Given the description of an element on the screen output the (x, y) to click on. 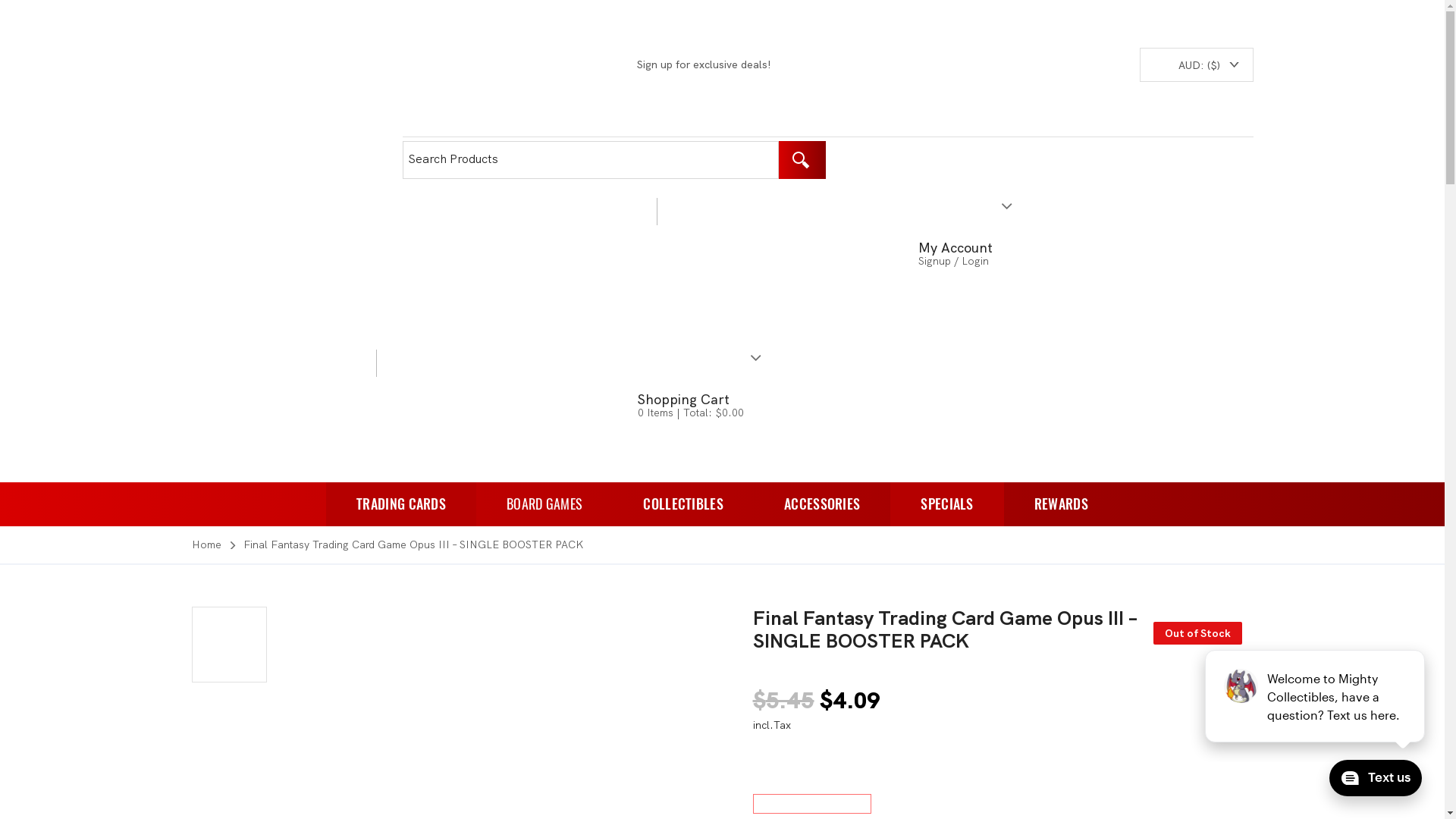
REWARDS Element type: text (1061, 504)
Home Element type: text (209, 544)
COLLECTIBLES Element type: text (682, 504)
podium webchat widget prompt Element type: hover (1315, 696)
Shopping Cart
0 Items | Total: $0.00 Element type: text (580, 406)
My Account
Signup / Login Element type: text (836, 254)
ACCESSORIES Element type: text (821, 504)
Sign up for exclusive deals! Element type: text (586, 64)
TRADING CARDS Element type: text (401, 504)
SPECIALS Element type: text (946, 504)
mail Element type: hover (519, 64)
BOARD GAMES Element type: text (544, 504)
